Given the description of an element on the screen output the (x, y) to click on. 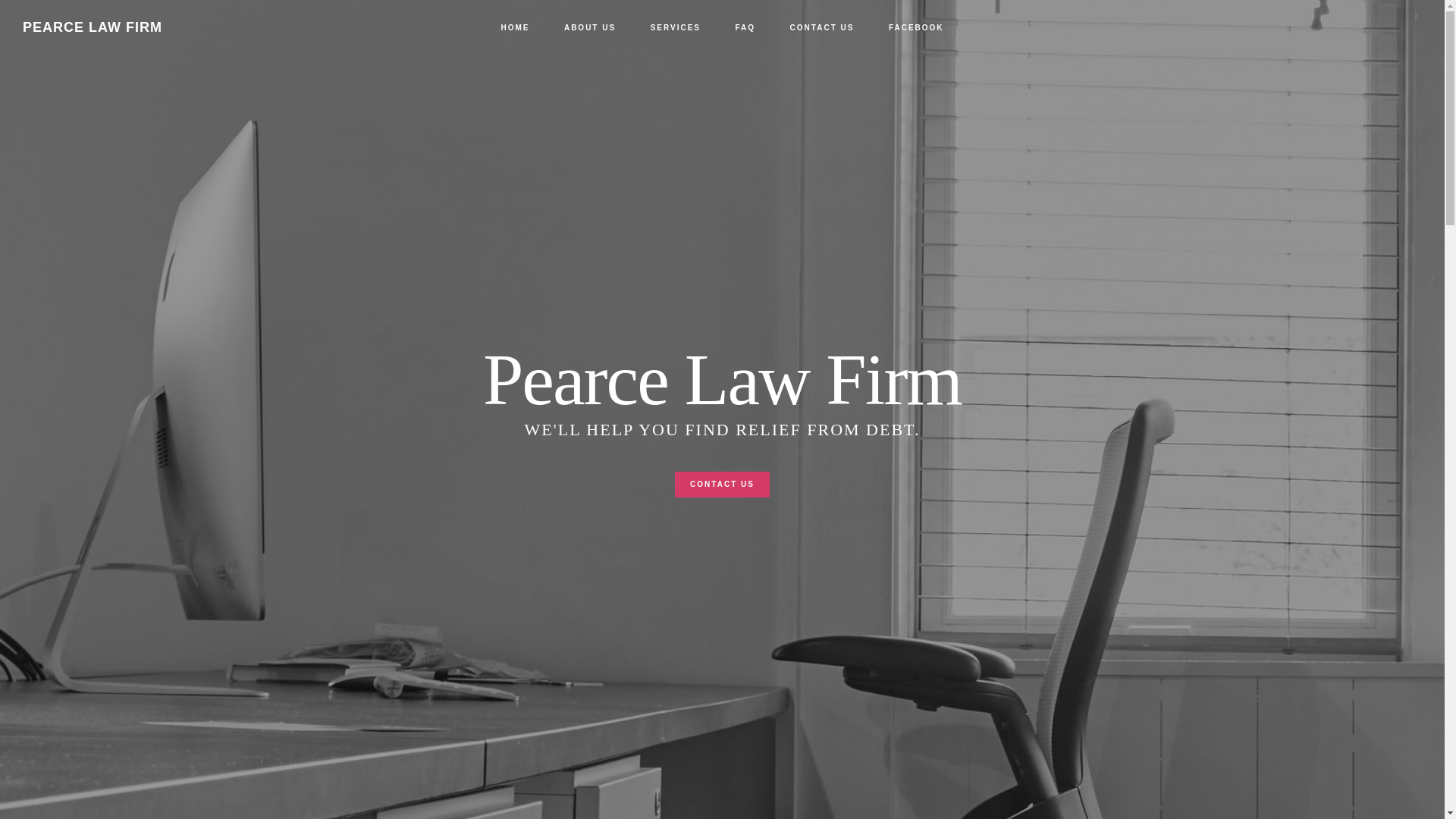
FACEBOOK (916, 27)
HOME (514, 27)
ABOUT US (589, 27)
PEARCE LAW FIRM (92, 27)
FAQ (745, 27)
CONTACT US (821, 27)
SERVICES (675, 27)
CONTACT US (722, 497)
